Given the description of an element on the screen output the (x, y) to click on. 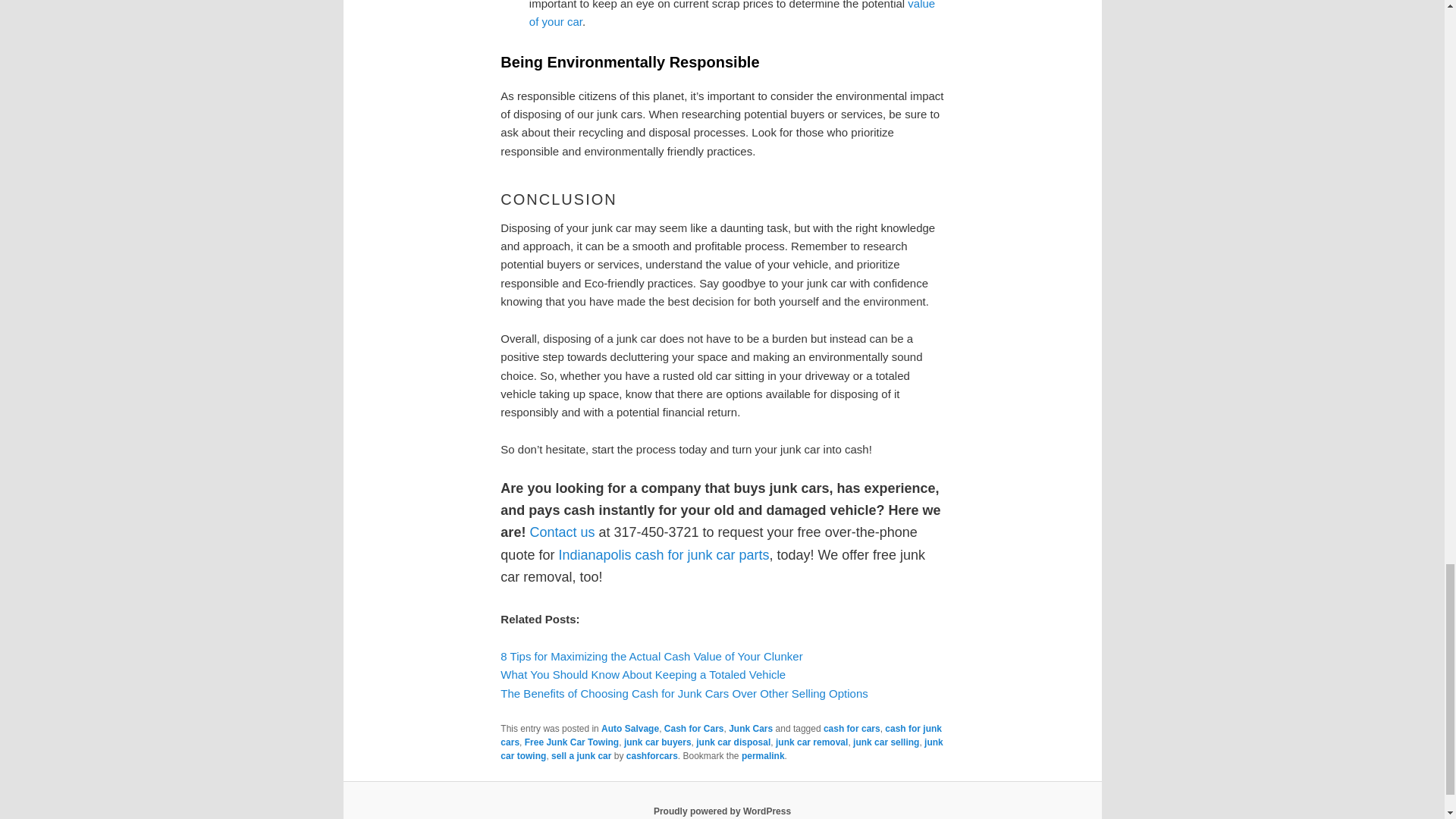
junk car towing (721, 749)
value of your car (731, 13)
junk car buyers (657, 742)
Junk Cars (751, 728)
cashforcars (652, 756)
Contact us (561, 531)
Semantic Personal Publishing Platform (721, 810)
8 Tips for Maximizing the Actual Cash Value of Your Clunker (651, 656)
cash for cars (852, 728)
Free Junk Car Towing (571, 742)
Indianapolis cash for junk car parts (662, 554)
permalink (762, 756)
junk car selling (885, 742)
